Given the description of an element on the screen output the (x, y) to click on. 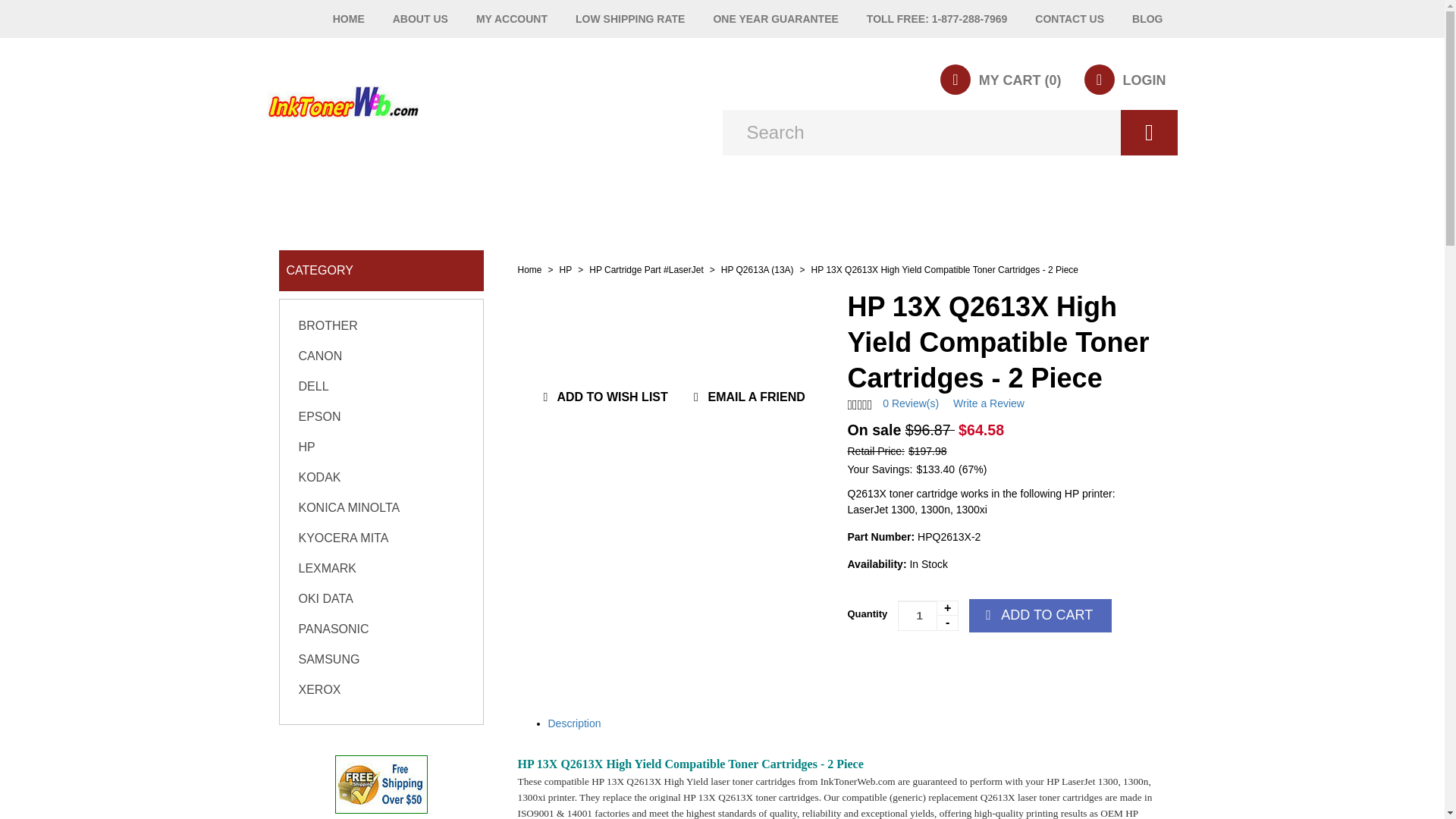
HOME (348, 18)
MY ACCOUNT (511, 18)
1 (928, 615)
BLOG (1147, 18)
XEROX (319, 689)
BROTHER (328, 325)
Home (528, 269)
ONE YEAR GUARANTEE (774, 18)
HP (565, 269)
ADD TO WISH LIST (601, 397)
EPSON (319, 416)
CONTACT US (1070, 18)
HP (306, 446)
OKI DATA (325, 598)
KYOCERA MITA (343, 537)
